Given the description of an element on the screen output the (x, y) to click on. 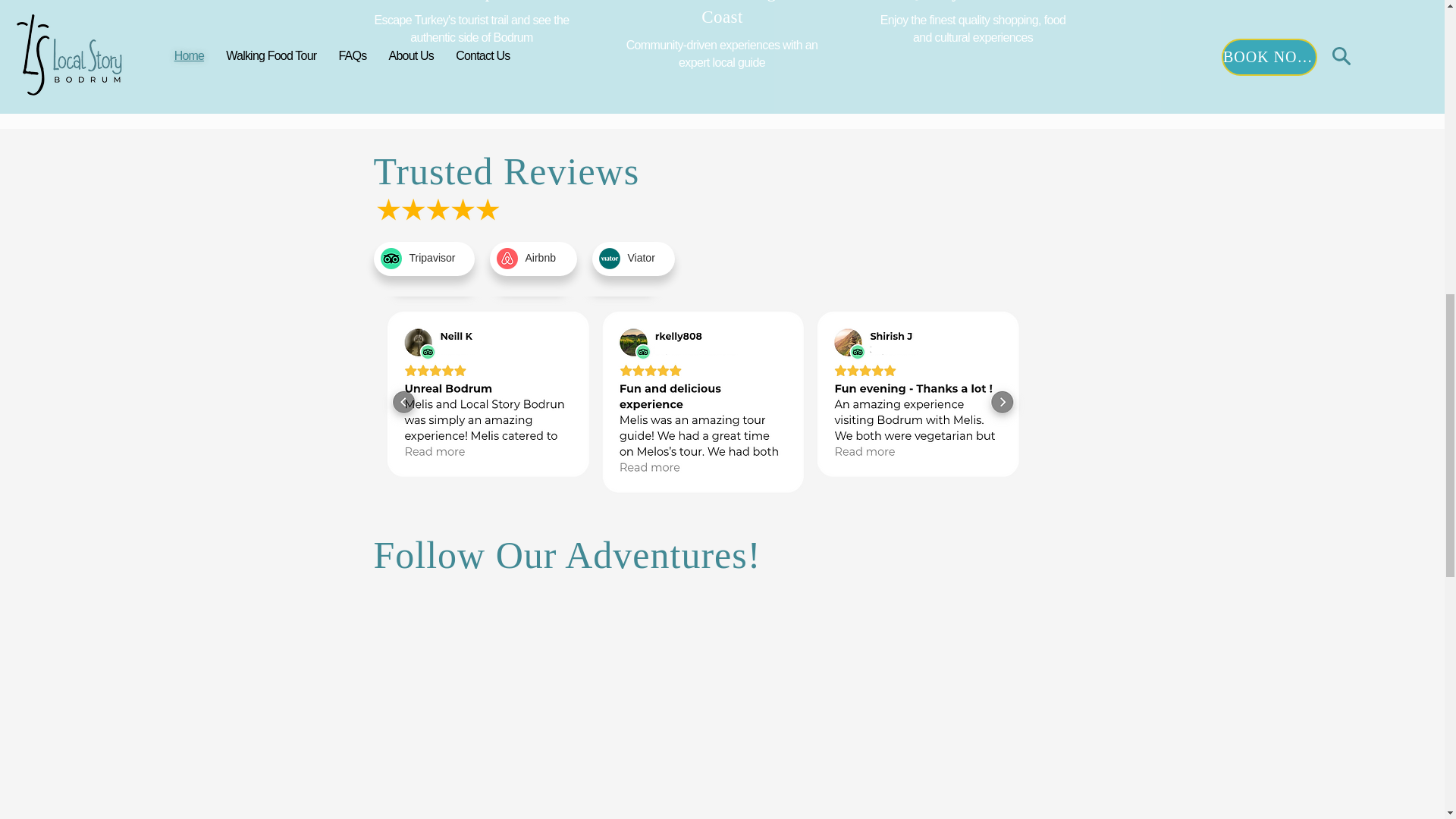
Tripavisor (432, 257)
Viator (641, 257)
Airbnb (539, 257)
3.png (390, 258)
3.png (609, 258)
3.png (506, 258)
